Given the description of an element on the screen output the (x, y) to click on. 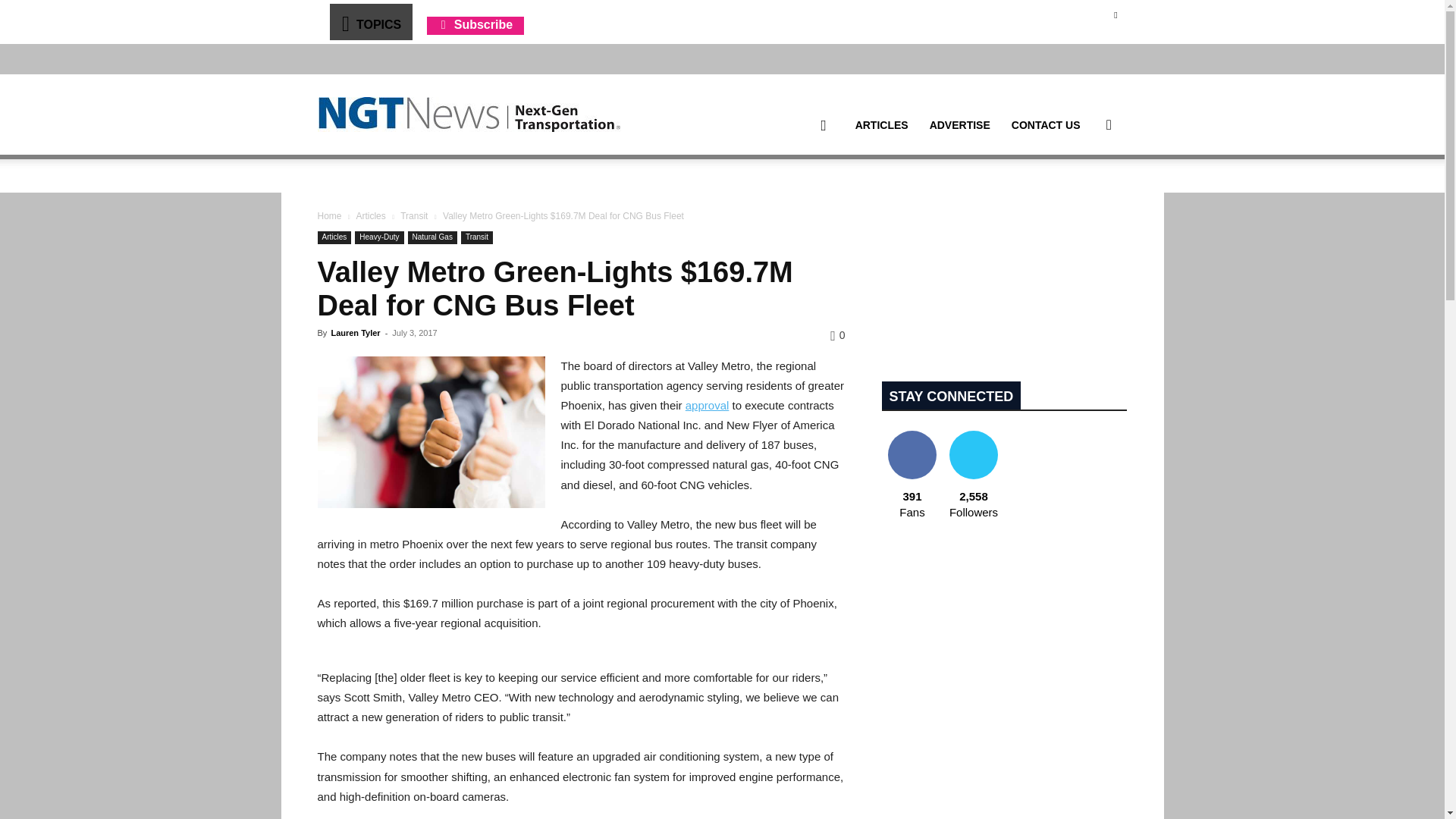
Search (1085, 197)
ARTICLES (881, 124)
Subscribe (475, 24)
Alternative Fuel News, CNG News (468, 114)
NGT News (468, 114)
TOPICS (370, 22)
Twitter (1114, 14)
